Given the description of an element on the screen output the (x, y) to click on. 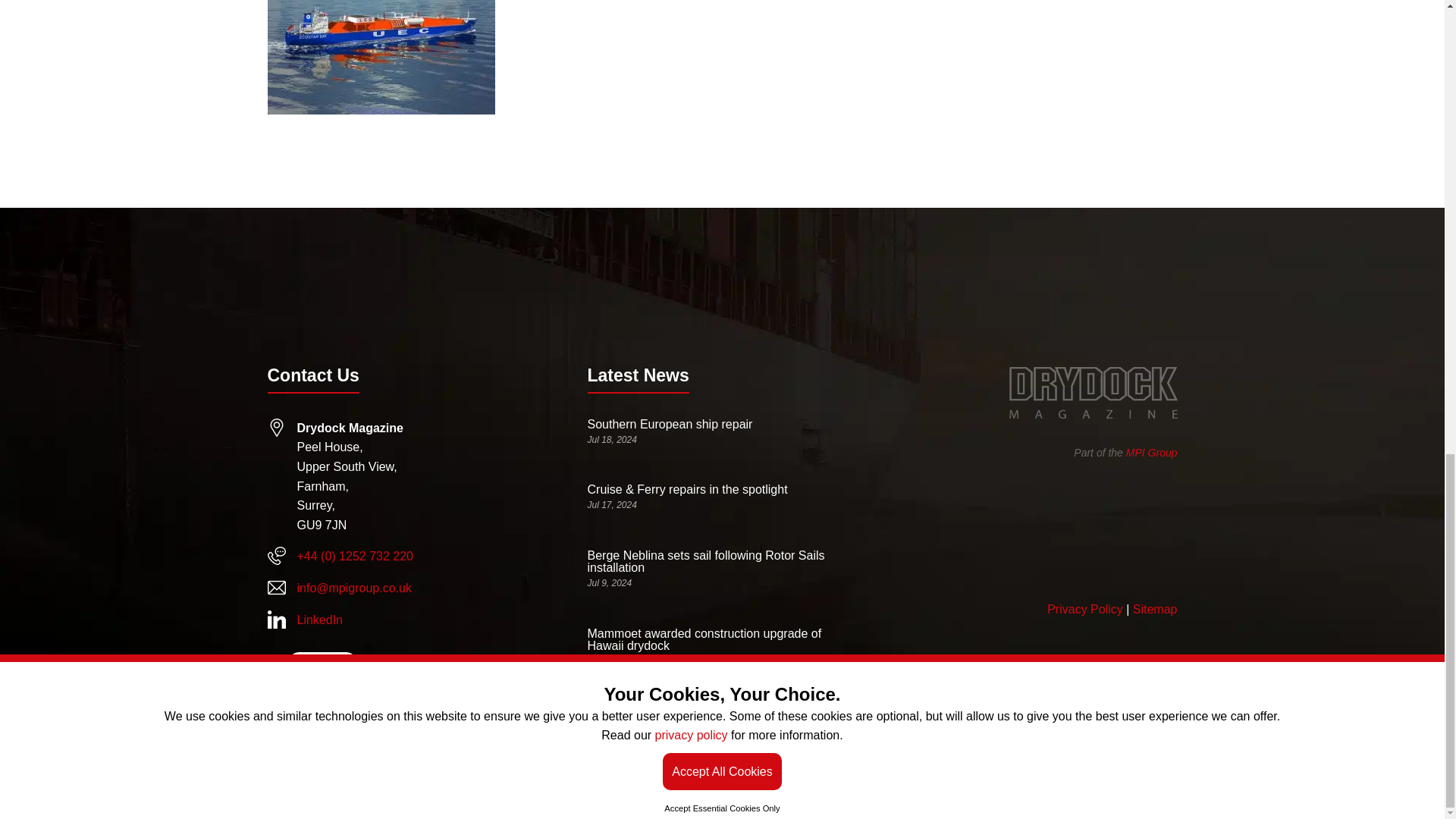
Mammoet awarded construction upgrade of Hawaii drydock (703, 639)
Privacy Policy (1084, 608)
Berge Neblina sets sail following Rotor Sails installation (705, 561)
LinkedIn (320, 619)
Sitemap (1154, 608)
MPI Group (1151, 452)
Southern European ship repair (669, 423)
